Given the description of an element on the screen output the (x, y) to click on. 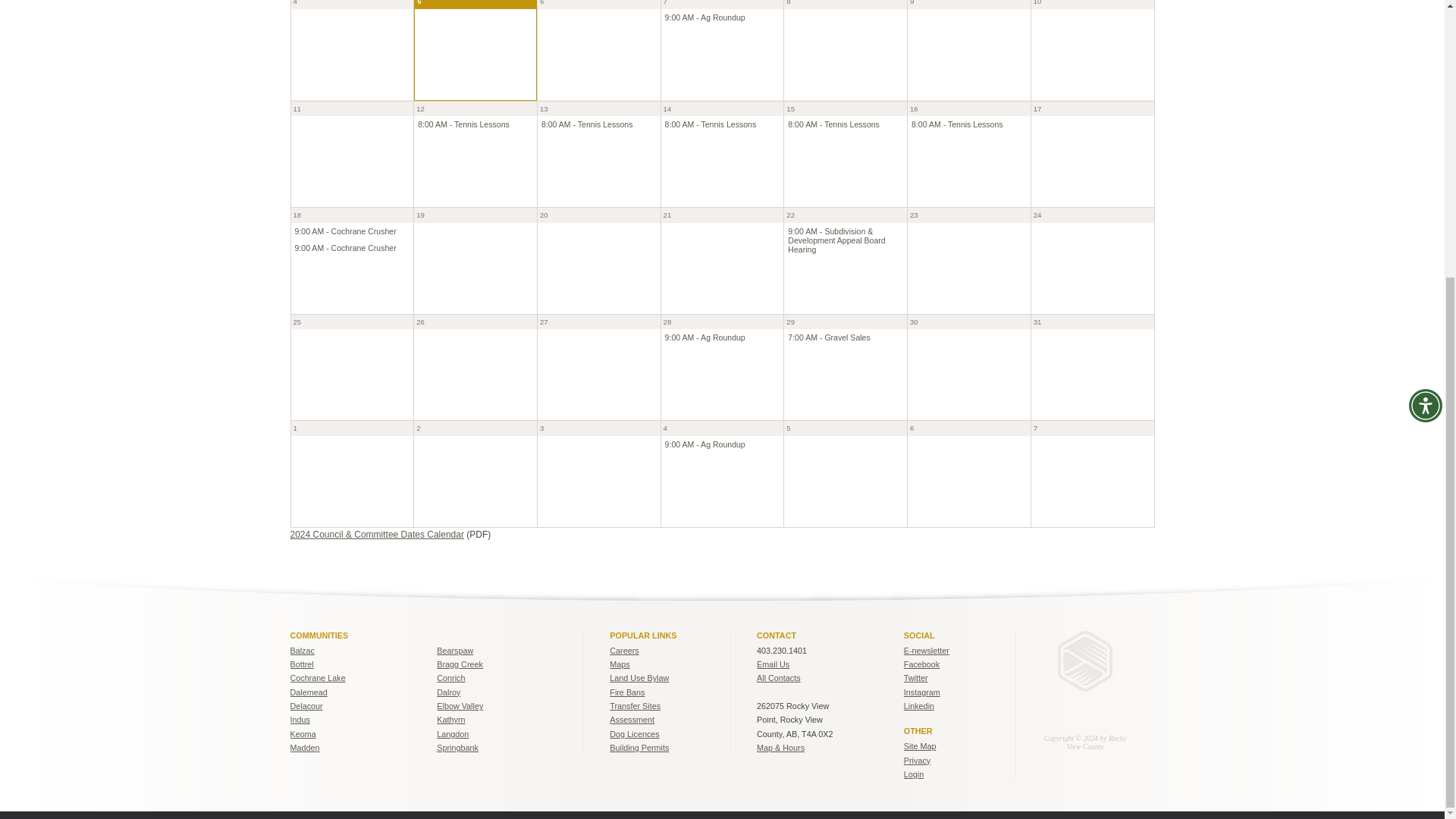
9:00 AM - Cochrane Crusher (345, 230)
Accessibility Menu (1425, 5)
8:00 AM - Tennis Lessons (711, 123)
8:00 AM - Tennis Lessons (587, 123)
8:00 AM - Tennis Lessons (833, 123)
9:00 AM - Ag Roundup (705, 17)
8:00 AM - Tennis Lessons (957, 123)
8:00 AM - Tennis Lessons (463, 123)
Login (913, 773)
